Given the description of an element on the screen output the (x, y) to click on. 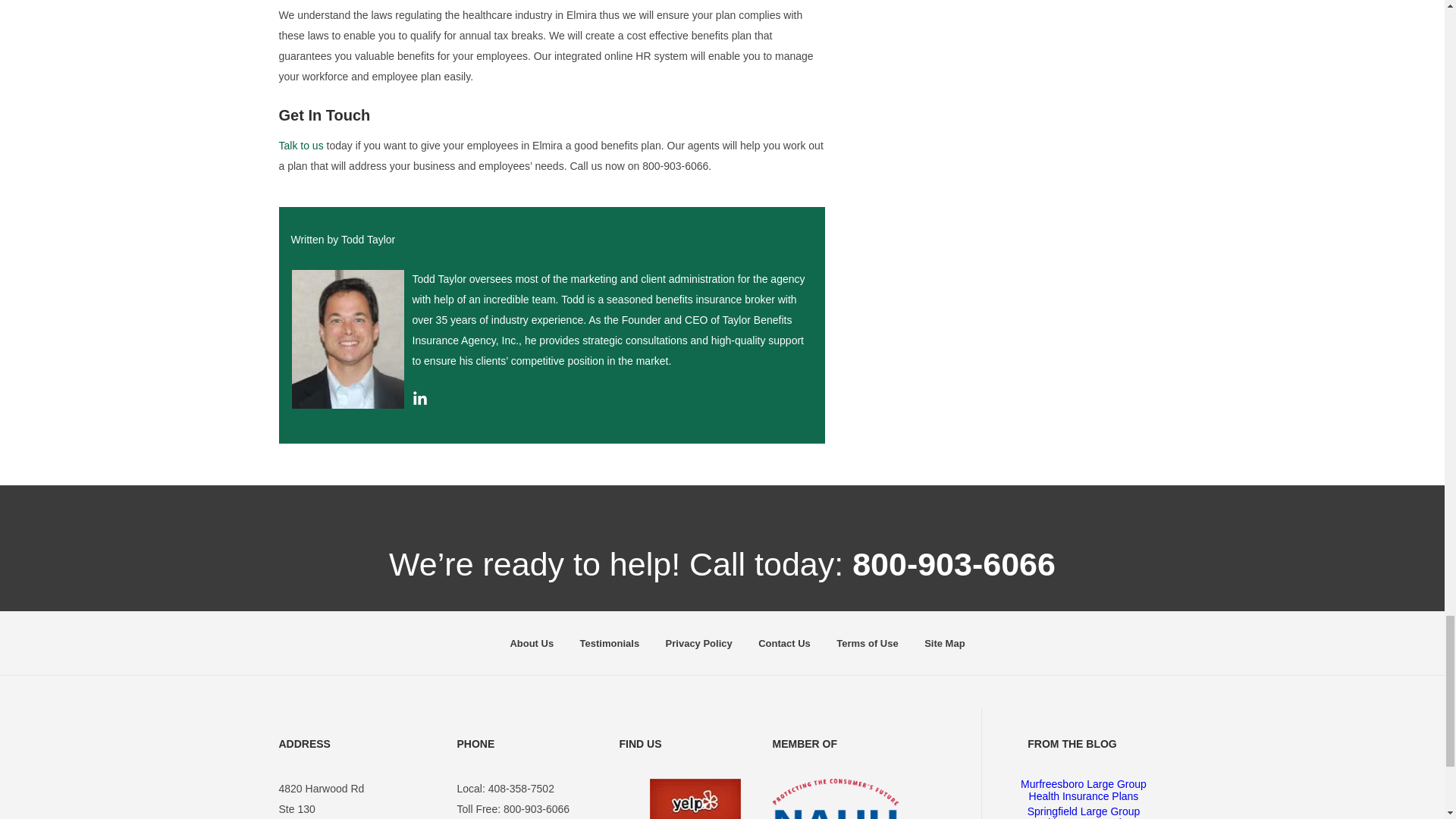
Linkedin (420, 401)
Talk to us (301, 145)
